Given the description of an element on the screen output the (x, y) to click on. 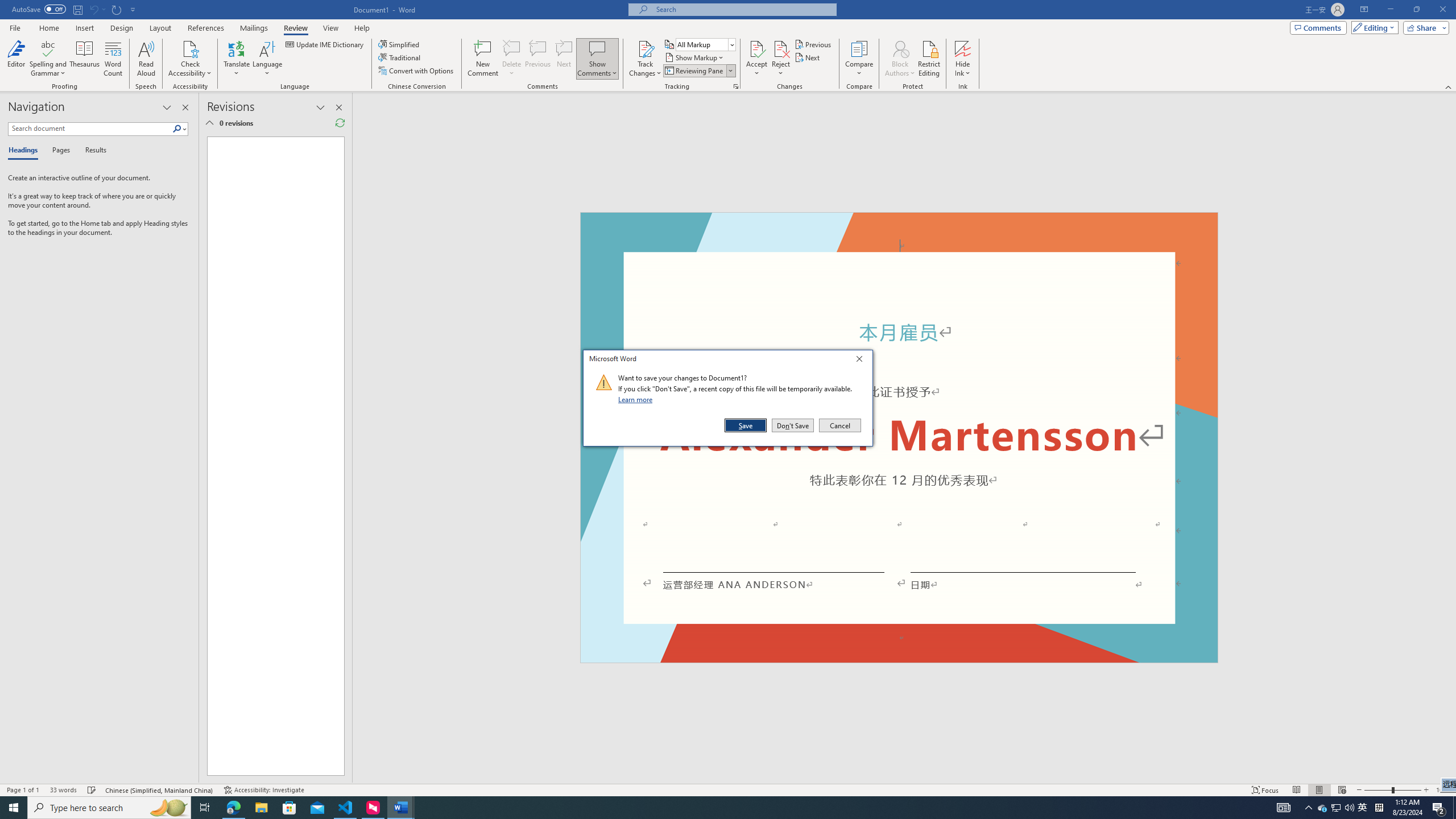
Pages (59, 150)
Close (862, 360)
Change Tracking Options... (1322, 807)
Header -Section 1- (735, 85)
Spelling and Grammar Check Checking (898, 225)
